Given the description of an element on the screen output the (x, y) to click on. 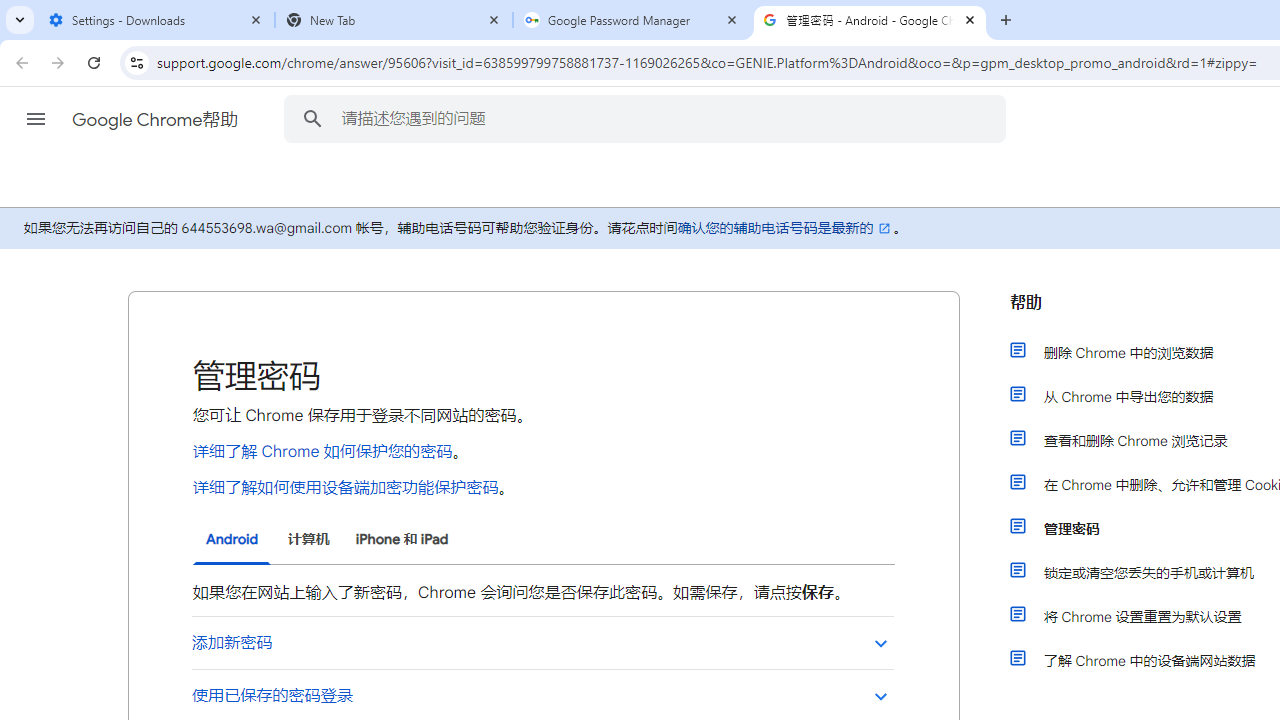
Android (232, 540)
